Given the description of an element on the screen output the (x, y) to click on. 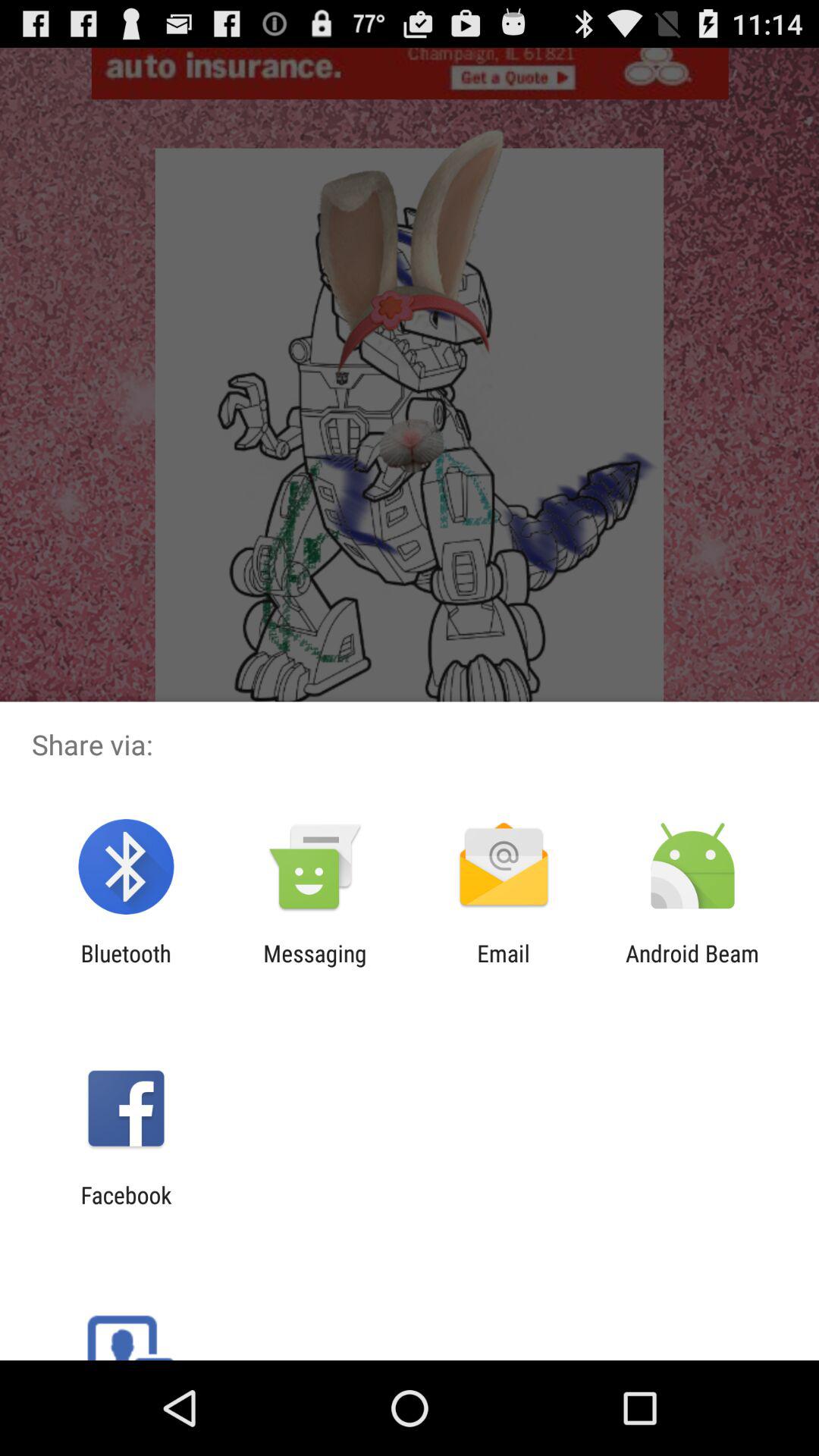
press the messaging item (314, 966)
